Given the description of an element on the screen output the (x, y) to click on. 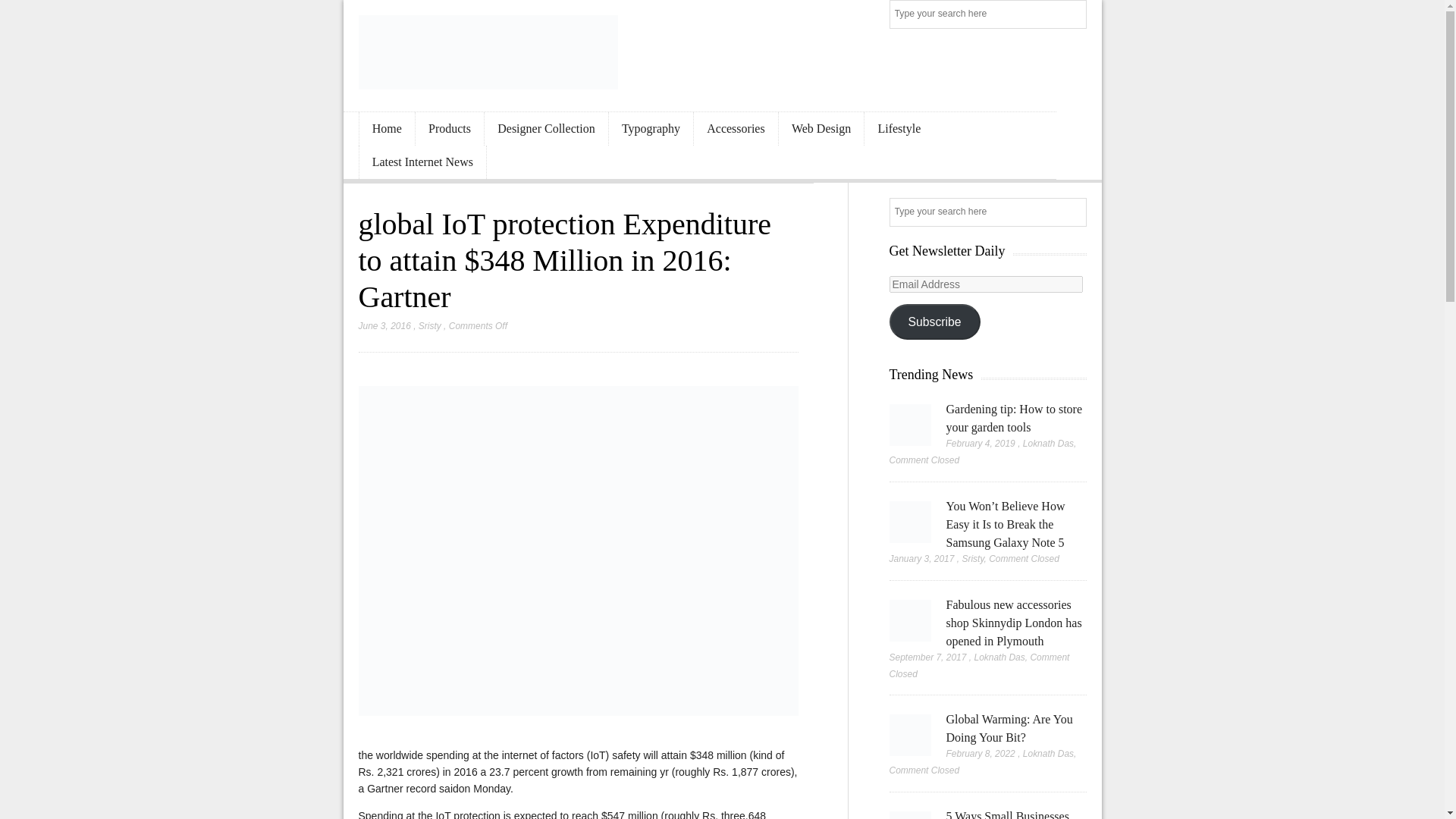
Typography (650, 129)
Lifestyle (898, 129)
Sristy (430, 326)
Home (386, 129)
Accessories (735, 129)
Search (1073, 15)
Products (448, 129)
Designer Collection (546, 129)
Posts by Sristy (430, 326)
Latest Internet News (422, 162)
